Given the description of an element on the screen output the (x, y) to click on. 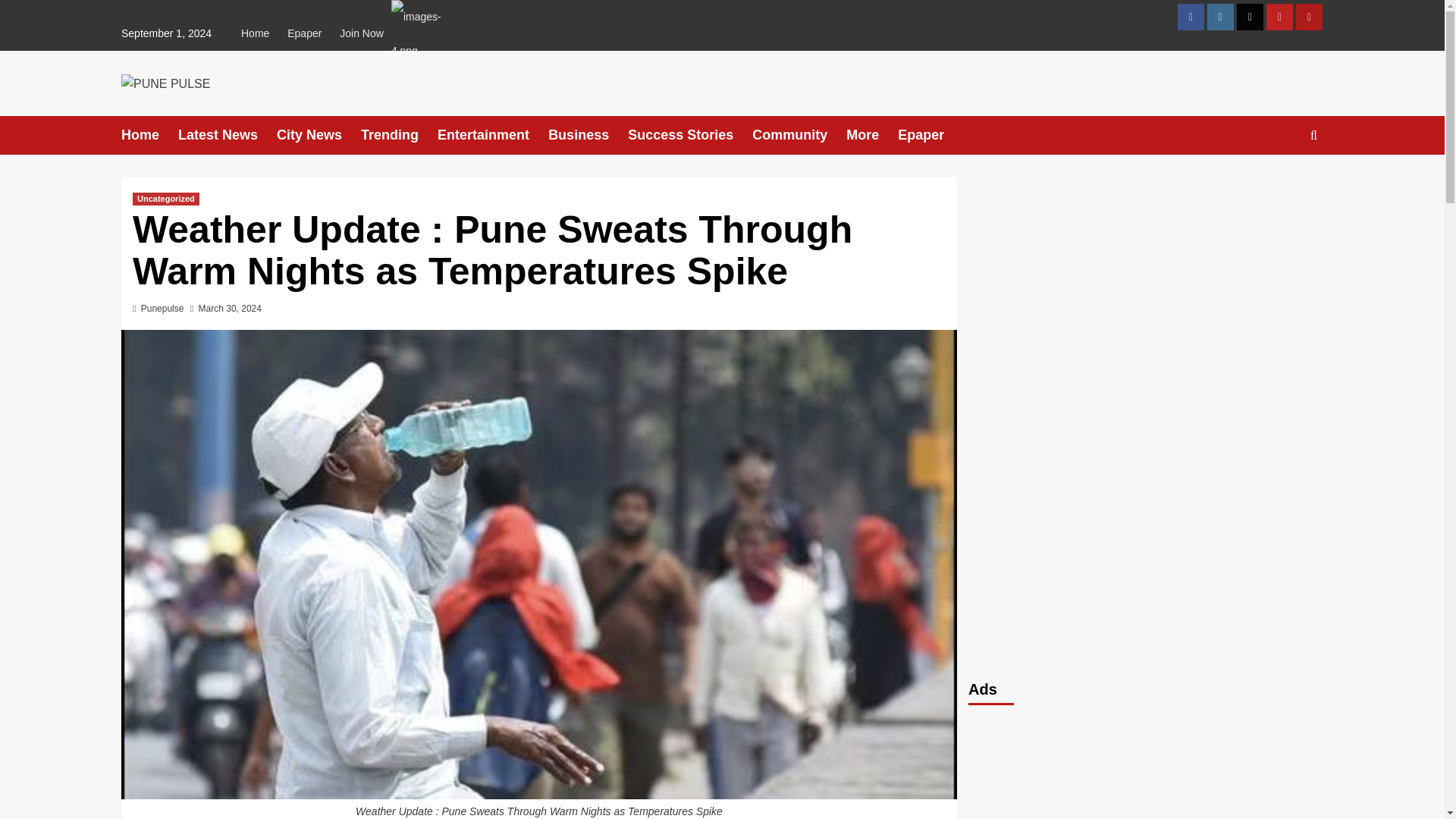
Facebook (1190, 17)
Instagram (1220, 17)
More (871, 135)
City News (318, 135)
Join Now (402, 17)
Business (587, 135)
Youtube (1279, 17)
Community (798, 135)
Home (148, 135)
Epaper (304, 33)
